Given the description of an element on the screen output the (x, y) to click on. 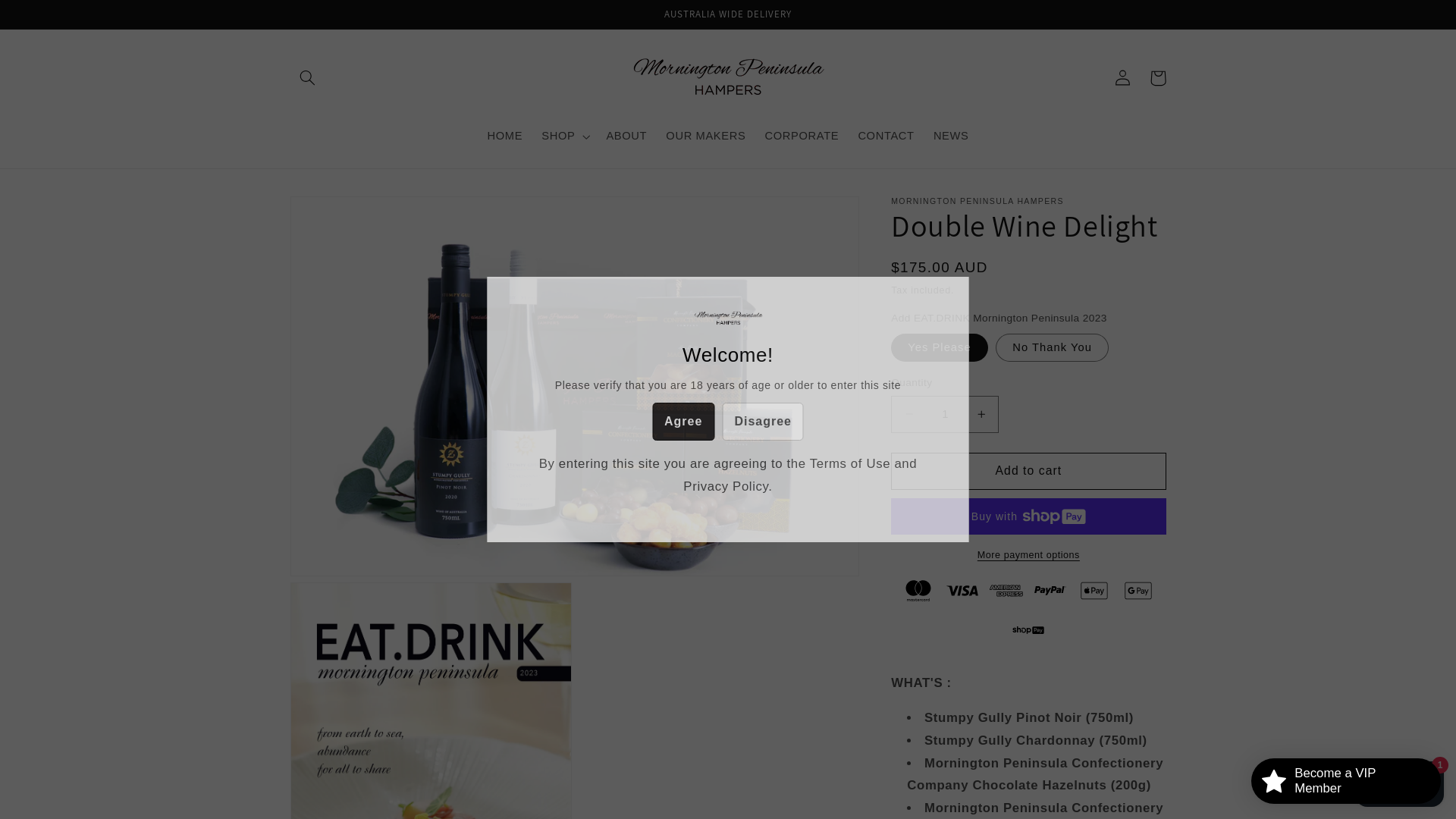
More payment options Element type: text (1028, 555)
NEWS Element type: text (950, 136)
Skip to product information Element type: text (337, 213)
Increase quantity for Double Wine Delight Element type: text (980, 414)
ABOUT Element type: text (626, 136)
Disagree Element type: text (762, 421)
Cart Element type: text (1157, 77)
HOME Element type: text (504, 136)
Agree Element type: text (683, 421)
CORPORATE Element type: text (801, 136)
Add to cart Element type: text (1028, 470)
CONTACT Element type: text (886, 136)
Decrease quantity for Double Wine Delight Element type: text (908, 414)
OUR MAKERS Element type: text (705, 136)
Shopify online store chat Element type: hover (1399, 780)
Log in Element type: text (1122, 77)
